Given the description of an element on the screen output the (x, y) to click on. 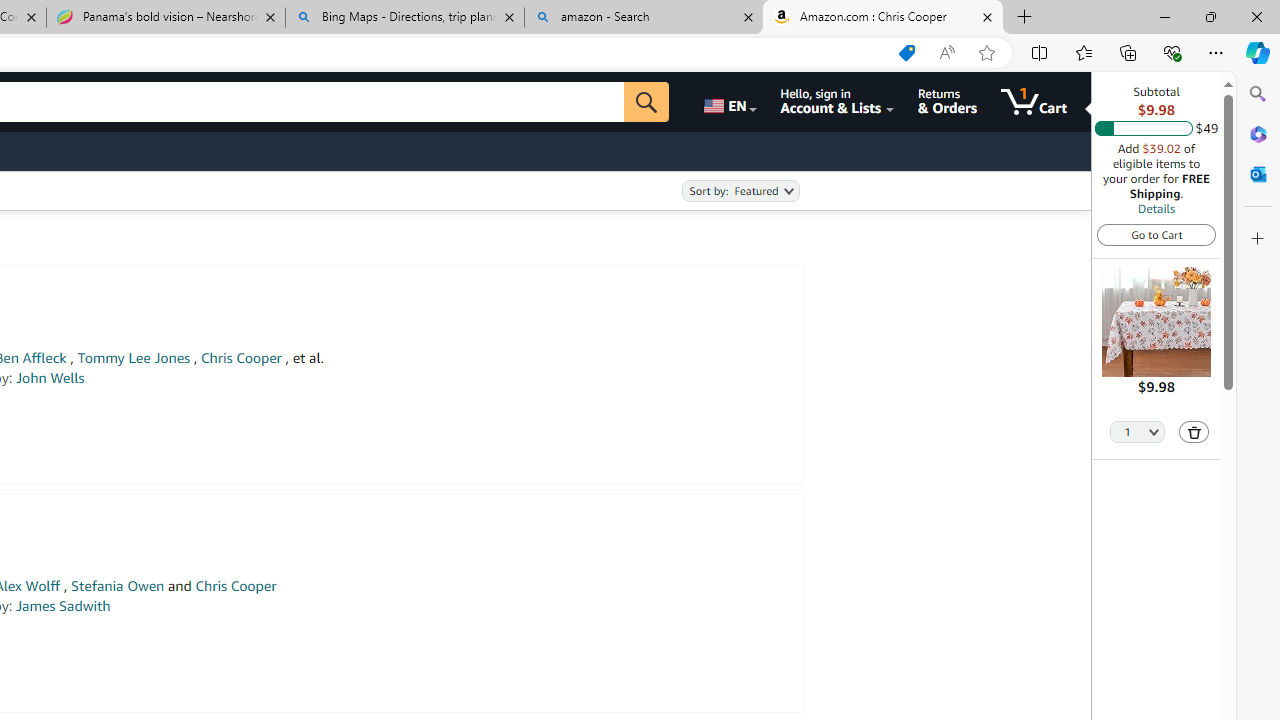
Go to Cart (1156, 234)
Chris Cooper (235, 586)
Sort by: (740, 191)
Details (1156, 208)
Delete (1193, 431)
Tommy Lee Jones (133, 358)
